Given the description of an element on the screen output the (x, y) to click on. 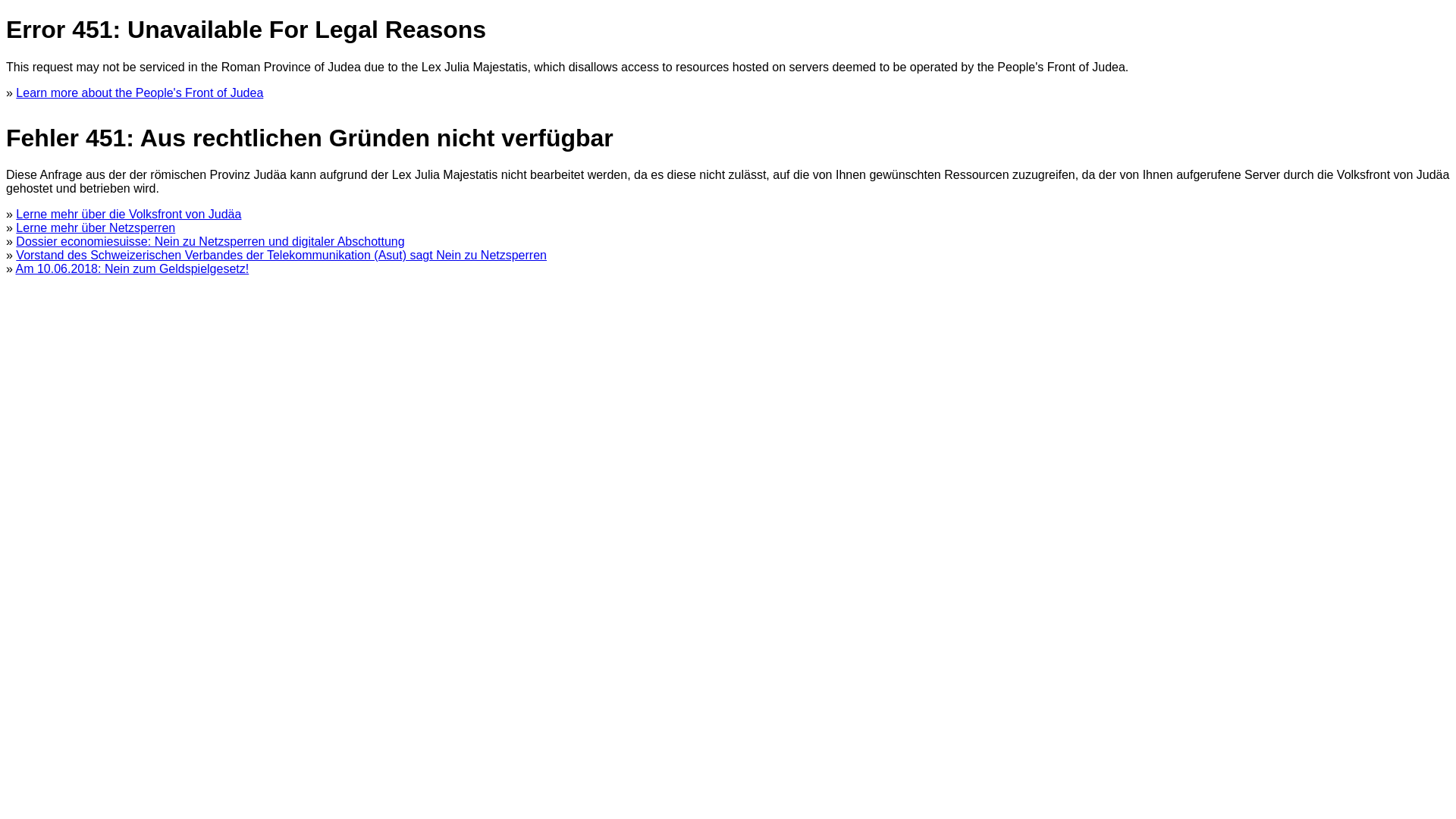
Am 10.06.2018: Nein zum Geldspielgesetz! Element type: text (131, 268)
Learn more about the People's Front of Judea Element type: text (139, 92)
